Given the description of an element on the screen output the (x, y) to click on. 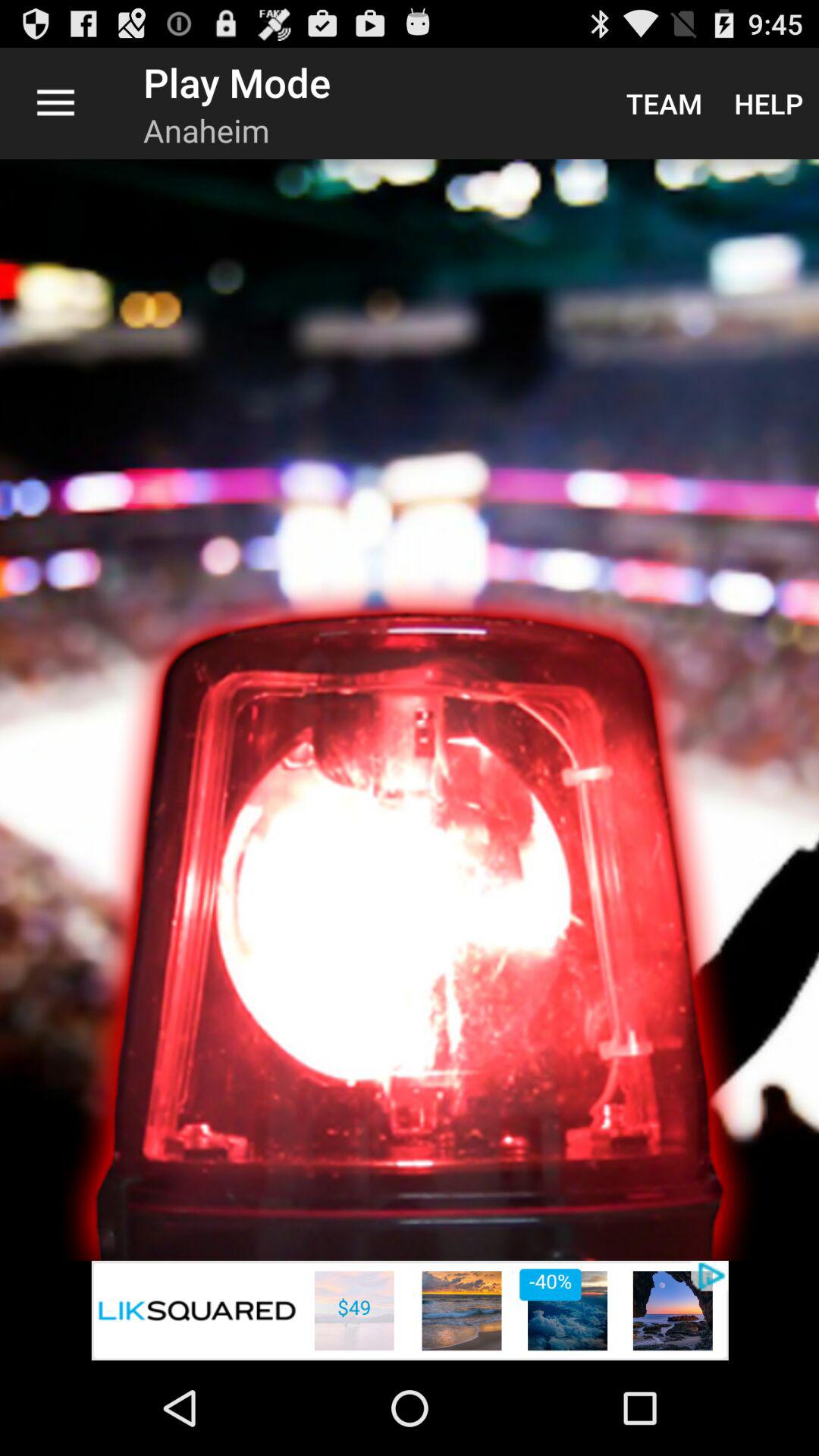
go to advertisement (409, 1310)
